Given the description of an element on the screen output the (x, y) to click on. 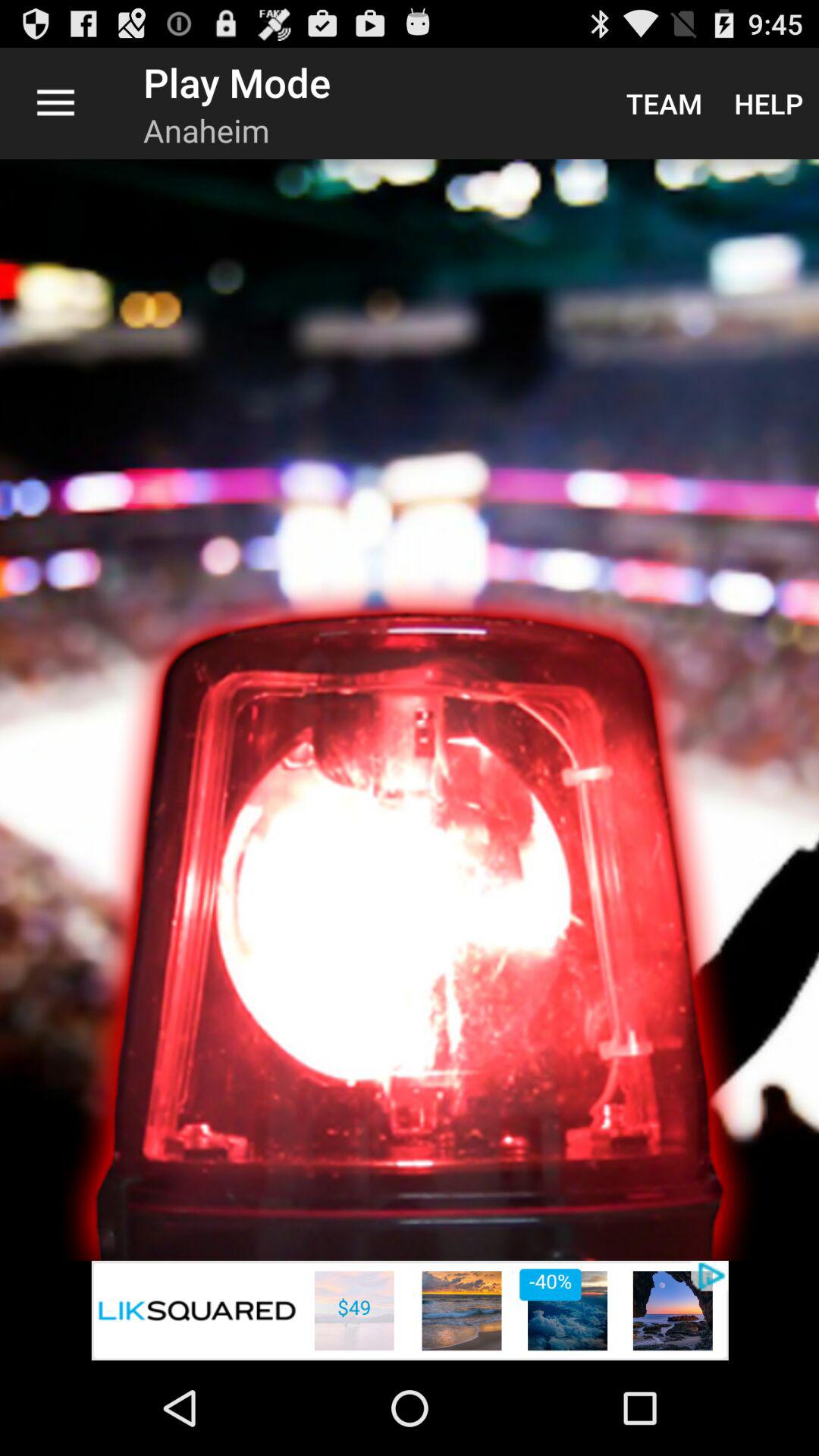
go to advertisement (409, 1310)
